Given the description of an element on the screen output the (x, y) to click on. 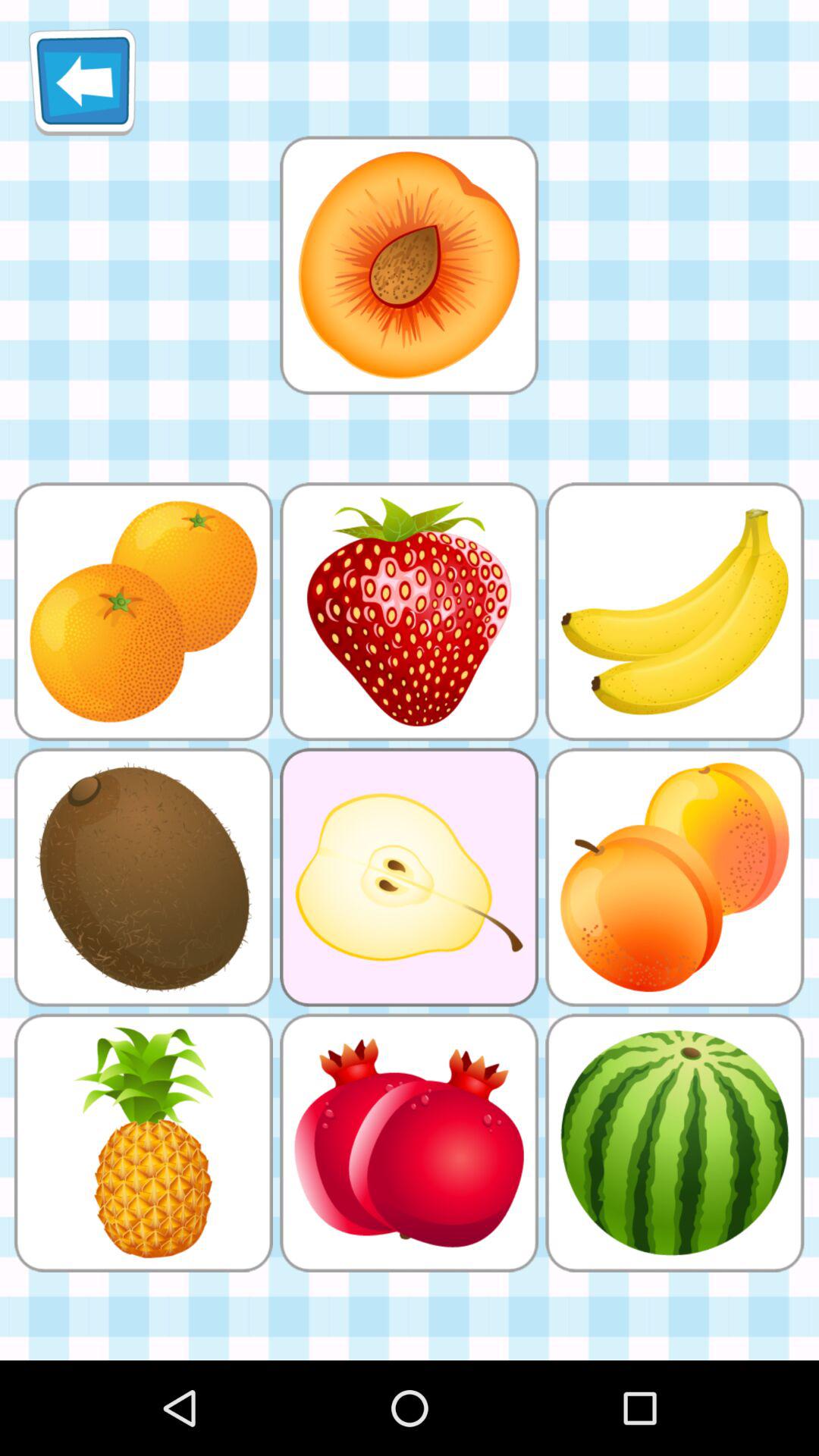
select this image (409, 265)
